Given the description of an element on the screen output the (x, y) to click on. 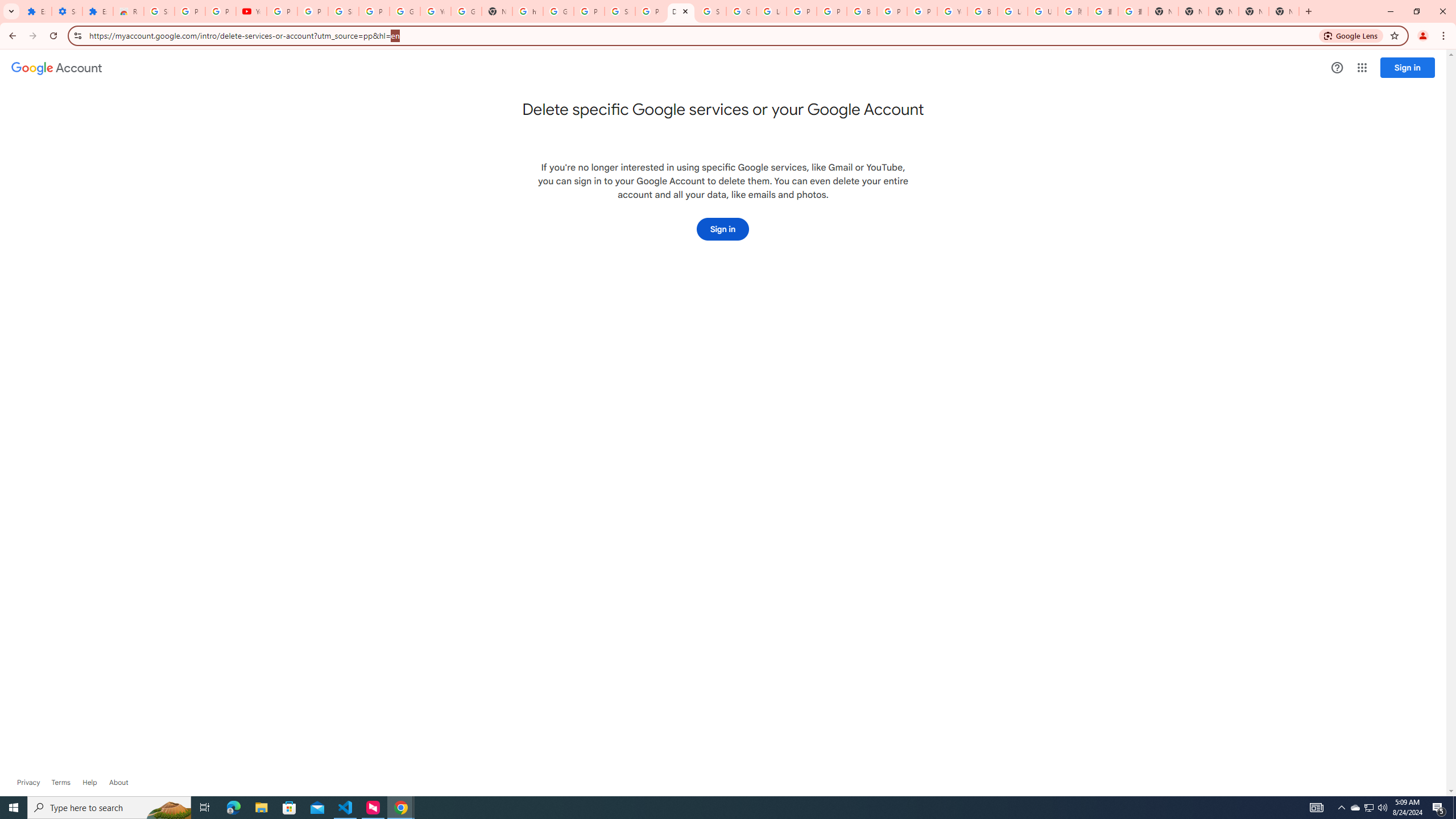
Help (1336, 67)
Privacy (28, 782)
Privacy Help Center - Policies Help (830, 11)
Delete specific Google services or your Google Account (681, 11)
